Given the description of an element on the screen output the (x, y) to click on. 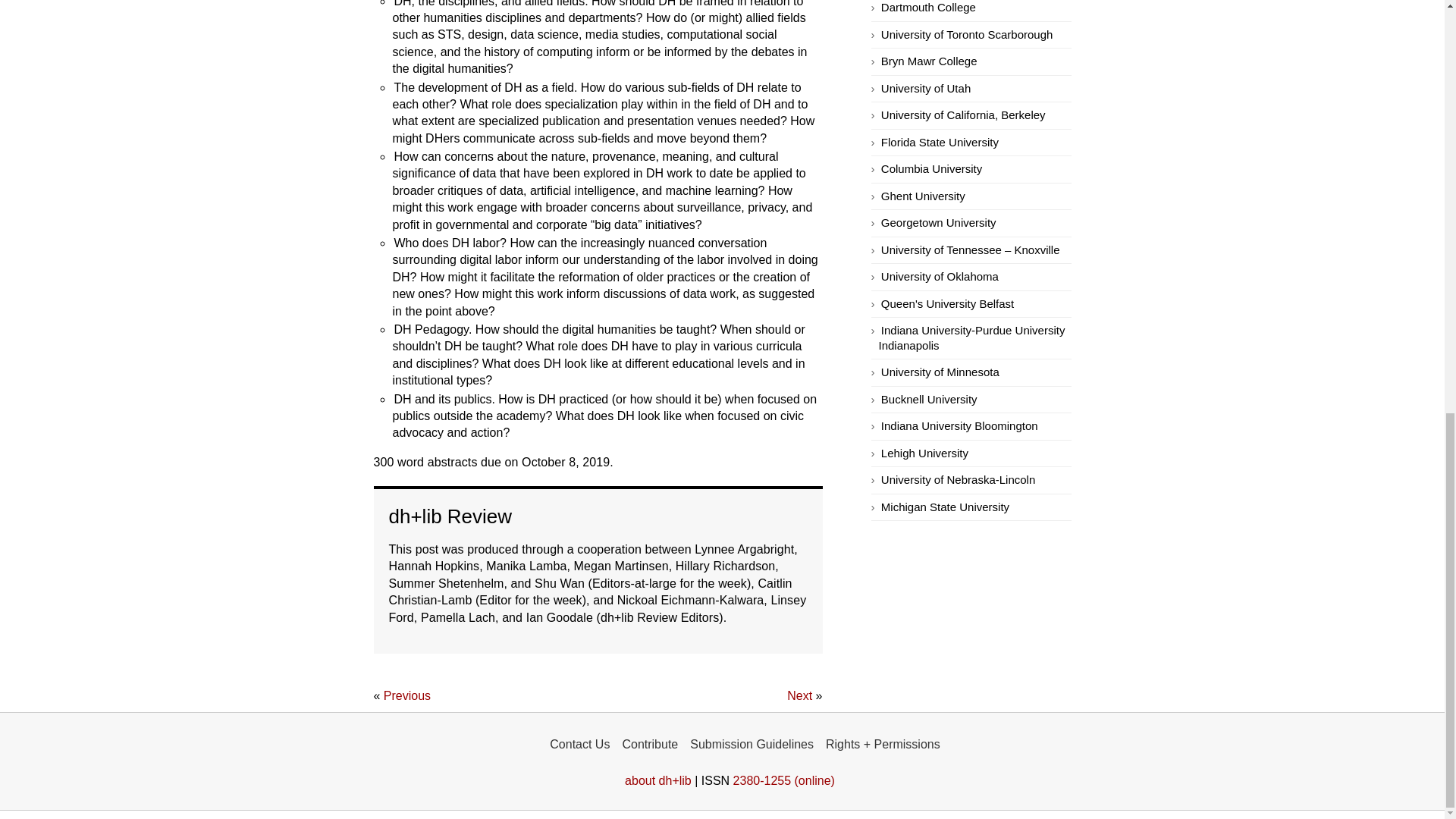
Digital Scholarship Program (928, 61)
Previous (407, 696)
Next (799, 696)
Bryn Mawr College (928, 61)
Digital Scholarship Unit (966, 34)
Florida State University (939, 142)
Digital Matters Lab (925, 88)
University of California, Berkeley (962, 115)
Digital Humanities at Dartmouth (927, 7)
Columbia University (930, 169)
University of Utah (925, 88)
University of Toronto Scarborough (966, 34)
Dartmouth College (927, 7)
